Given the description of an element on the screen output the (x, y) to click on. 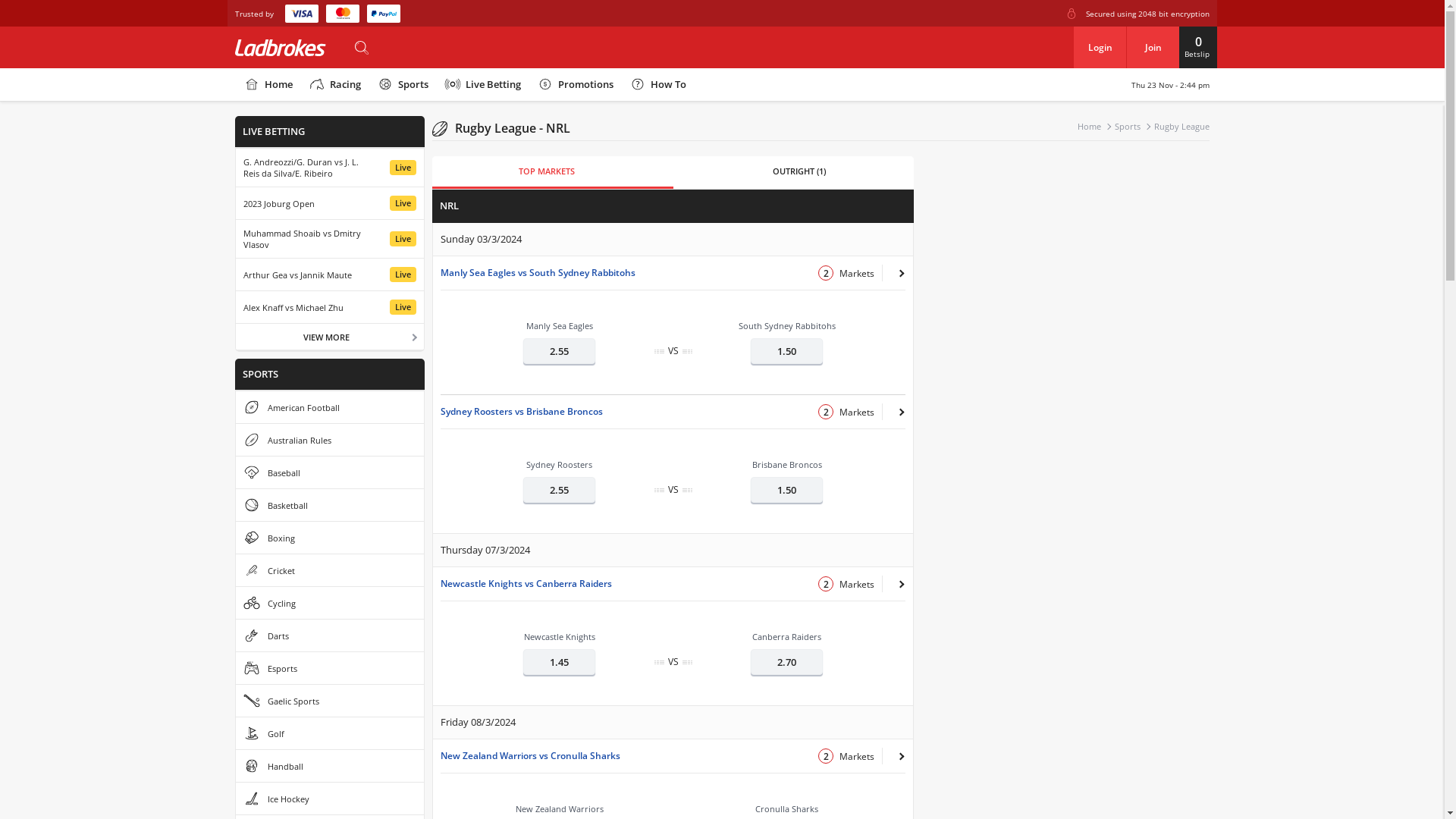
Muhammad Shoaib vs Dmitry Vlasov
Live Element type: text (329, 238)
Sports Element type: text (402, 84)
2.55 Element type: text (559, 489)
Darts Element type: text (329, 635)
Ice Hockey Element type: text (329, 798)
TOP MARKETS Element type: text (546, 172)
Login Element type: text (1099, 47)
Alex Knaff vs Michael Zhu
Live Element type: text (329, 307)
Australian Rules Element type: text (329, 439)
Arthur Gea vs Jannik Maute
Live Element type: text (329, 274)
Home Element type: text (267, 84)
Promotions Element type: text (574, 84)
Join Element type: text (1152, 47)
2.55 Element type: text (559, 351)
American Football Element type: text (329, 407)
Racing Element type: text (334, 84)
G. Andreozzi/G. Duran vs J. L. Reis da Silva/E. Ribeiro
Live Element type: text (329, 167)
Boxing Element type: text (329, 537)
1.45 Element type: text (559, 661)
Baseball Element type: text (329, 472)
Home Element type: text (1094, 125)
2023 Joburg Open
Live Element type: text (329, 203)
How To Element type: text (657, 84)
1.50 Element type: text (786, 489)
Esports Element type: text (329, 668)
VIEW MORE Element type: text (329, 336)
Cycling Element type: text (329, 602)
Handball Element type: text (329, 765)
Basketball Element type: text (329, 504)
Gaelic Sports Element type: text (329, 700)
Golf Element type: text (329, 733)
Cricket Element type: text (329, 570)
Sports Element type: text (1132, 125)
Live Betting Element type: text (482, 84)
1.50 Element type: text (786, 351)
Rugby League Element type: text (1181, 125)
OUTRIGHT (1) Element type: text (799, 172)
2.70 Element type: text (786, 661)
